Given the description of an element on the screen output the (x, y) to click on. 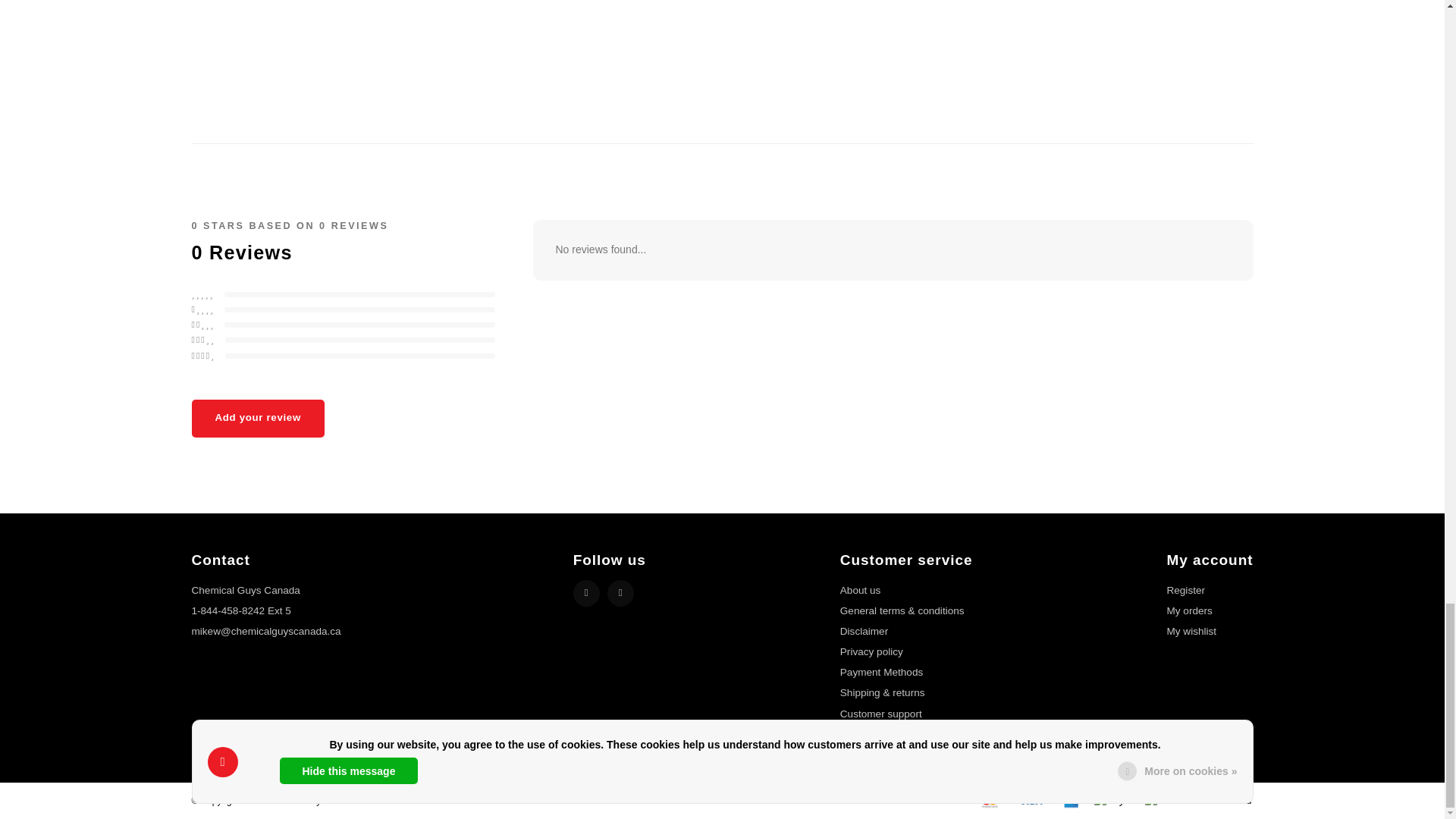
My orders (1188, 610)
Register (1185, 590)
Payment methods (988, 799)
My wishlist (1190, 631)
Instagram Chemical Guys Canada (620, 592)
Payment methods (1029, 799)
